Given the description of an element on the screen output the (x, y) to click on. 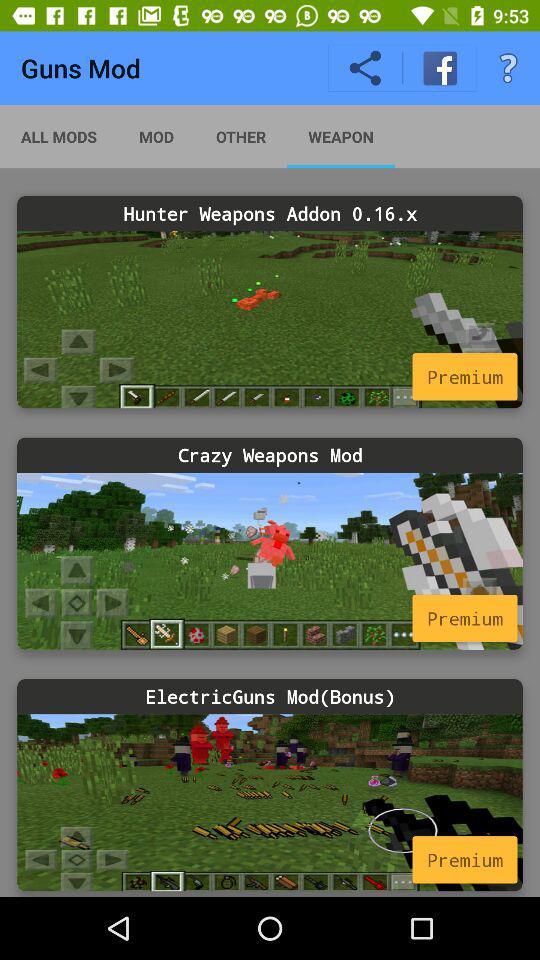
turn on item to the left of weapon item (240, 136)
